Given the description of an element on the screen output the (x, y) to click on. 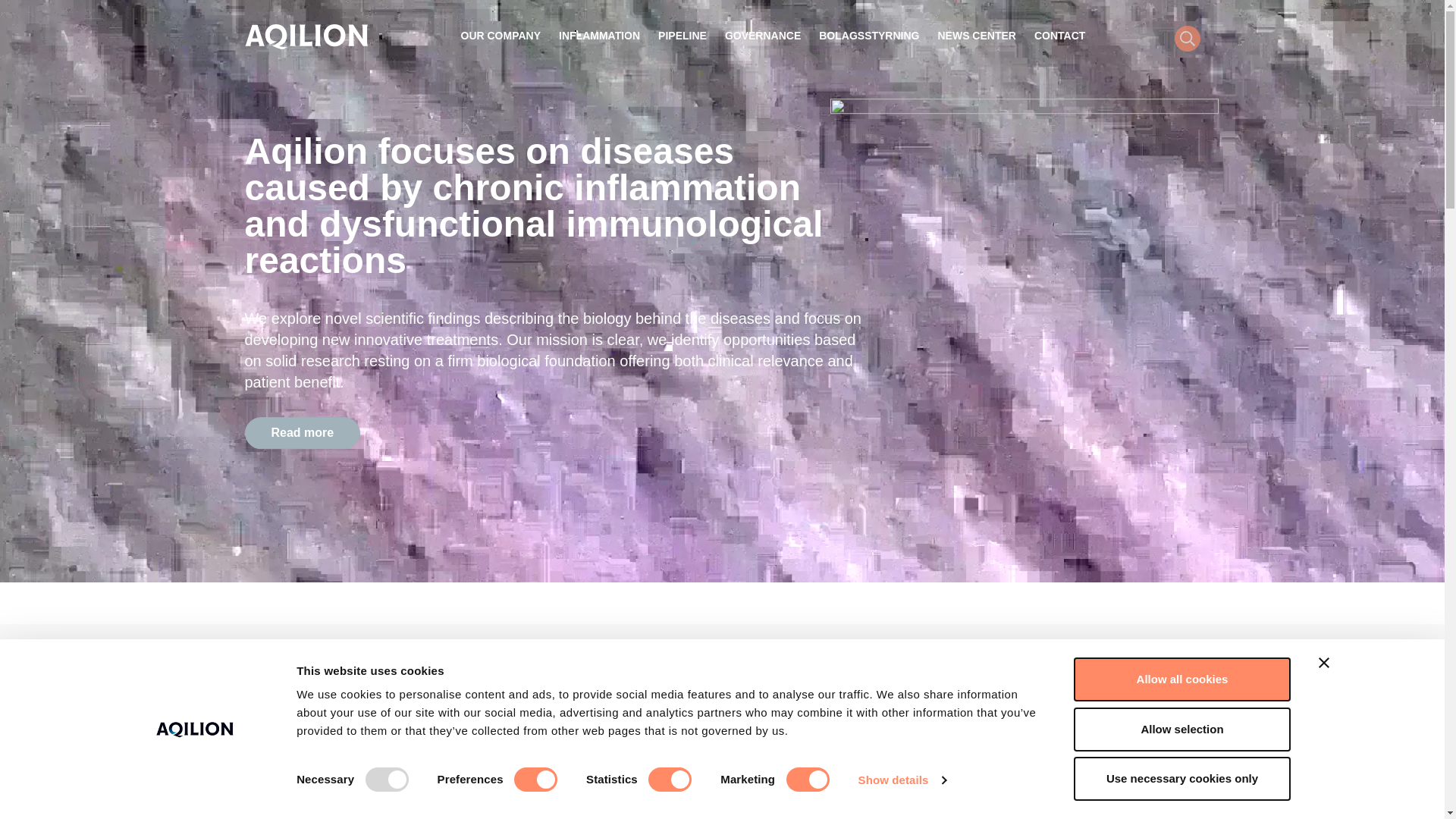
Aqilion logo (305, 36)
Aqilion logo (305, 36)
Use necessary cookies only (1182, 778)
Allow selection (1182, 728)
Show details (900, 780)
Allow all cookies (1182, 679)
